Given the description of an element on the screen output the (x, y) to click on. 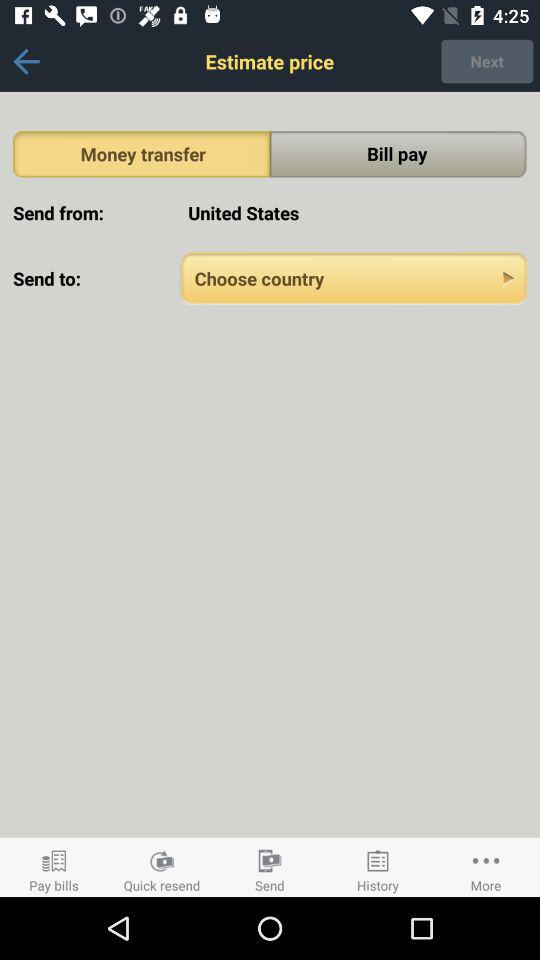
turn off the item next to the estimate price item (487, 61)
